Given the description of an element on the screen output the (x, y) to click on. 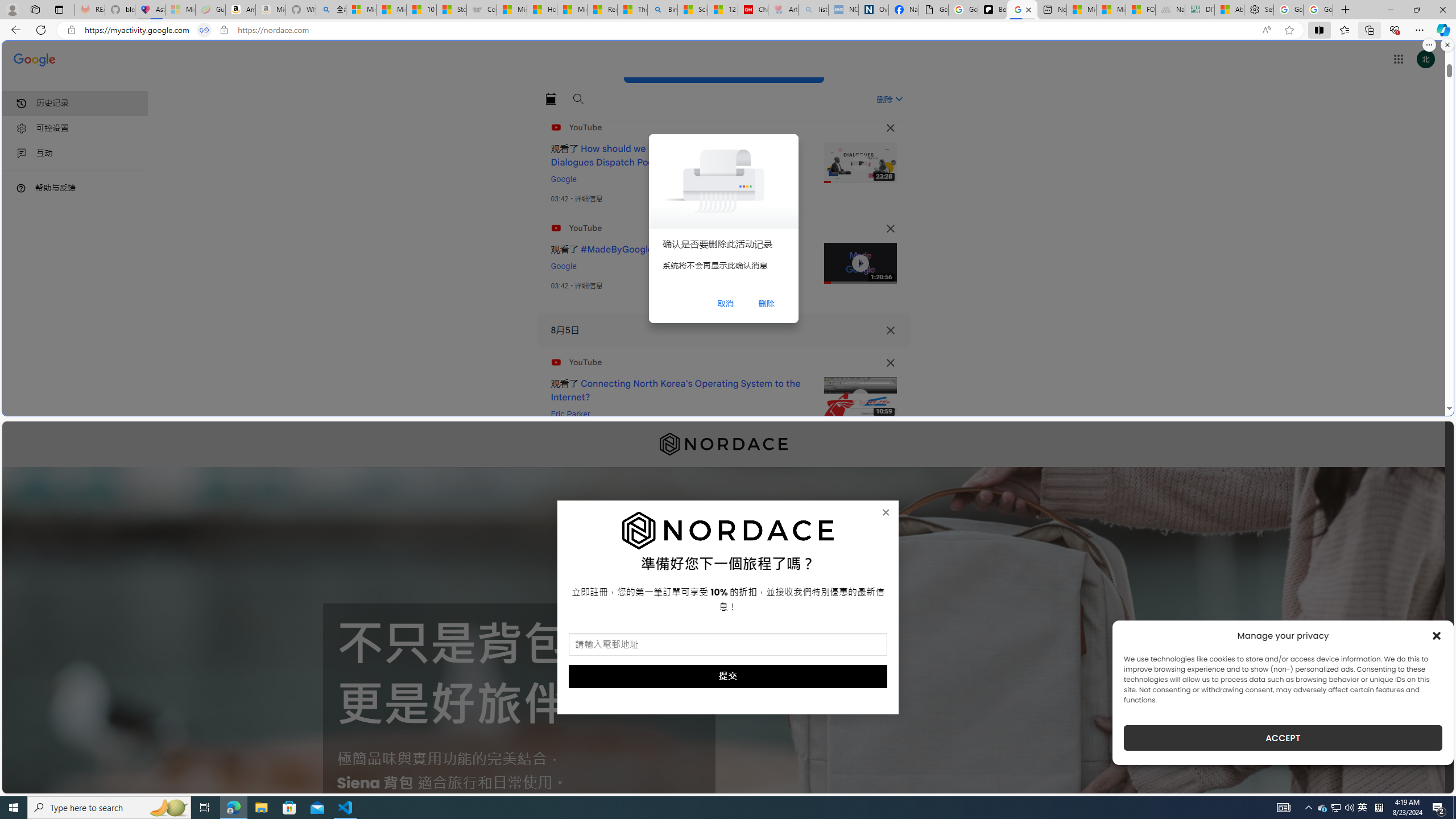
How I Got Rid of Microsoft Edge's Unnecessary Features (542, 9)
FOX News - MSN (1140, 9)
Class: asE2Ub NMm5M (898, 99)
Science - MSN (691, 9)
AutomationID: field_5_1 (727, 645)
Combat Siege (481, 9)
Class: i2GIId (21, 153)
Asthma Inhalers: Names and Types (149, 9)
